Given the description of an element on the screen output the (x, y) to click on. 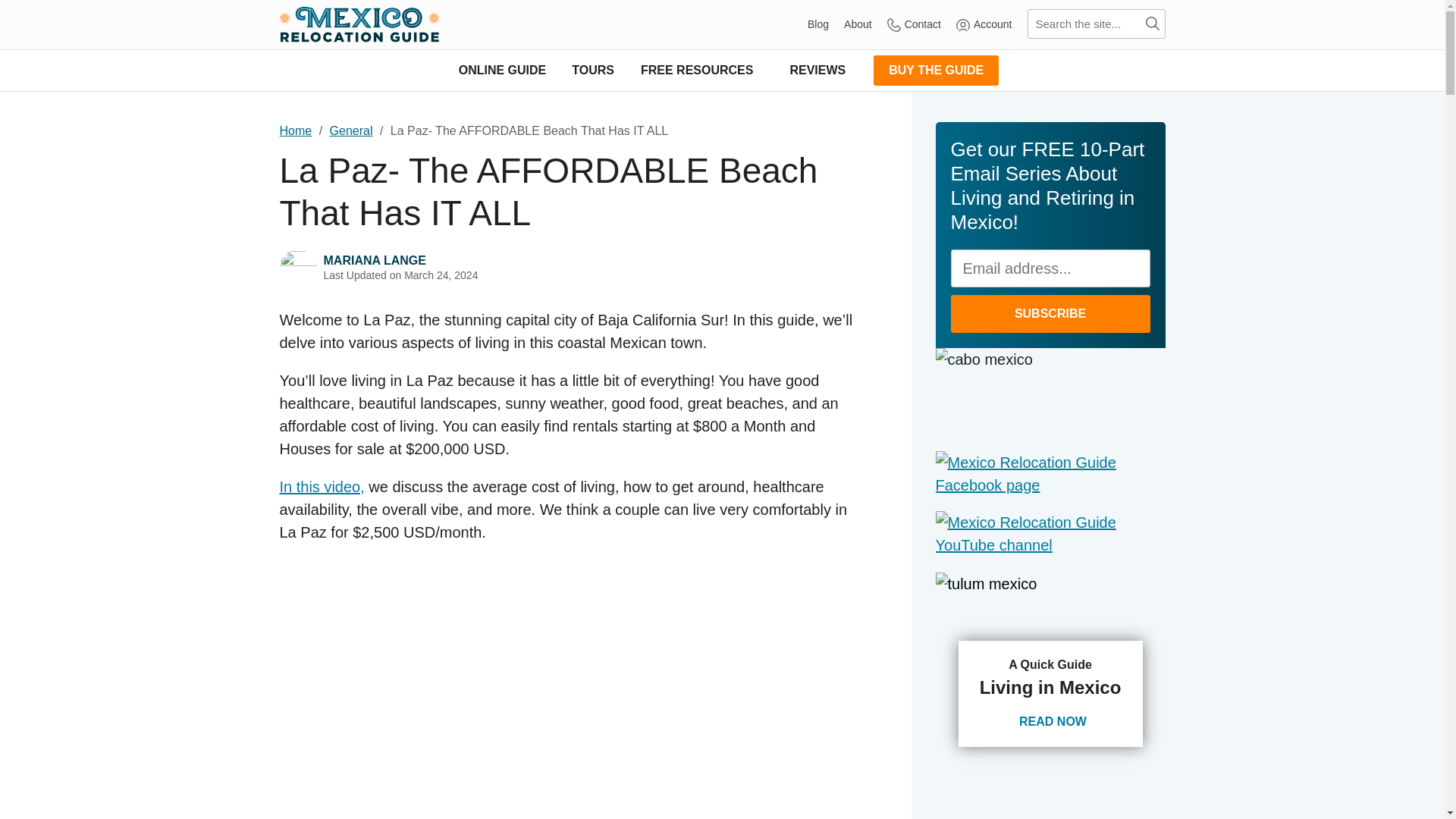
Subscribe (1050, 313)
About (858, 24)
TOURS (593, 69)
Account (983, 24)
ONLINE GUIDE (502, 69)
FREE RESOURCES (701, 69)
Contact (913, 24)
